Given the description of an element on the screen output the (x, y) to click on. 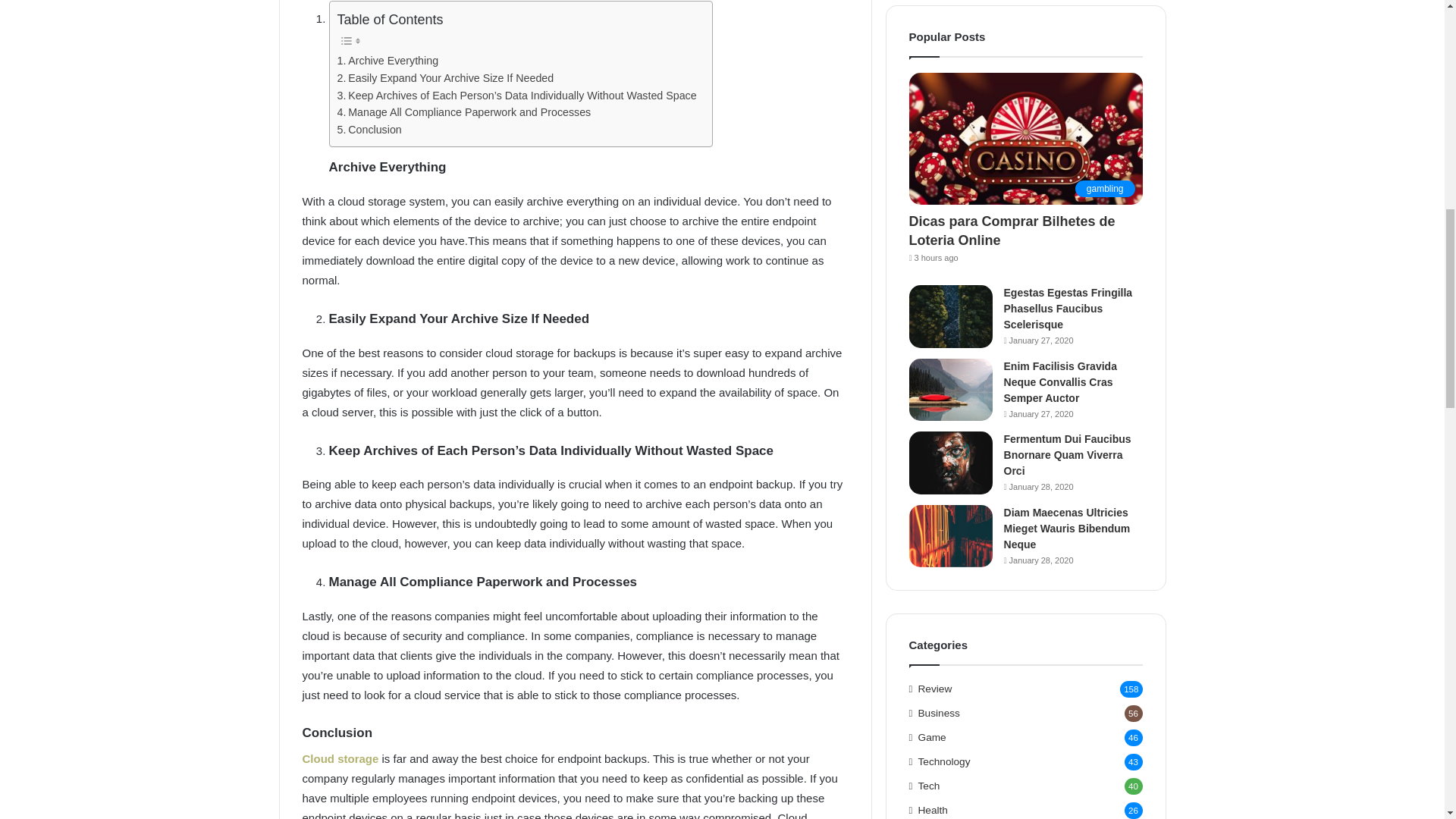
Easily Expand Your Archive Size If Needed (444, 77)
Easily Expand Your Archive Size If Needed (444, 77)
Conclusion (368, 129)
Cloud storage (339, 758)
Manage All Compliance Paperwork and Processes (463, 112)
Archive Everything (387, 60)
Archive Everything (387, 60)
